Given the description of an element on the screen output the (x, y) to click on. 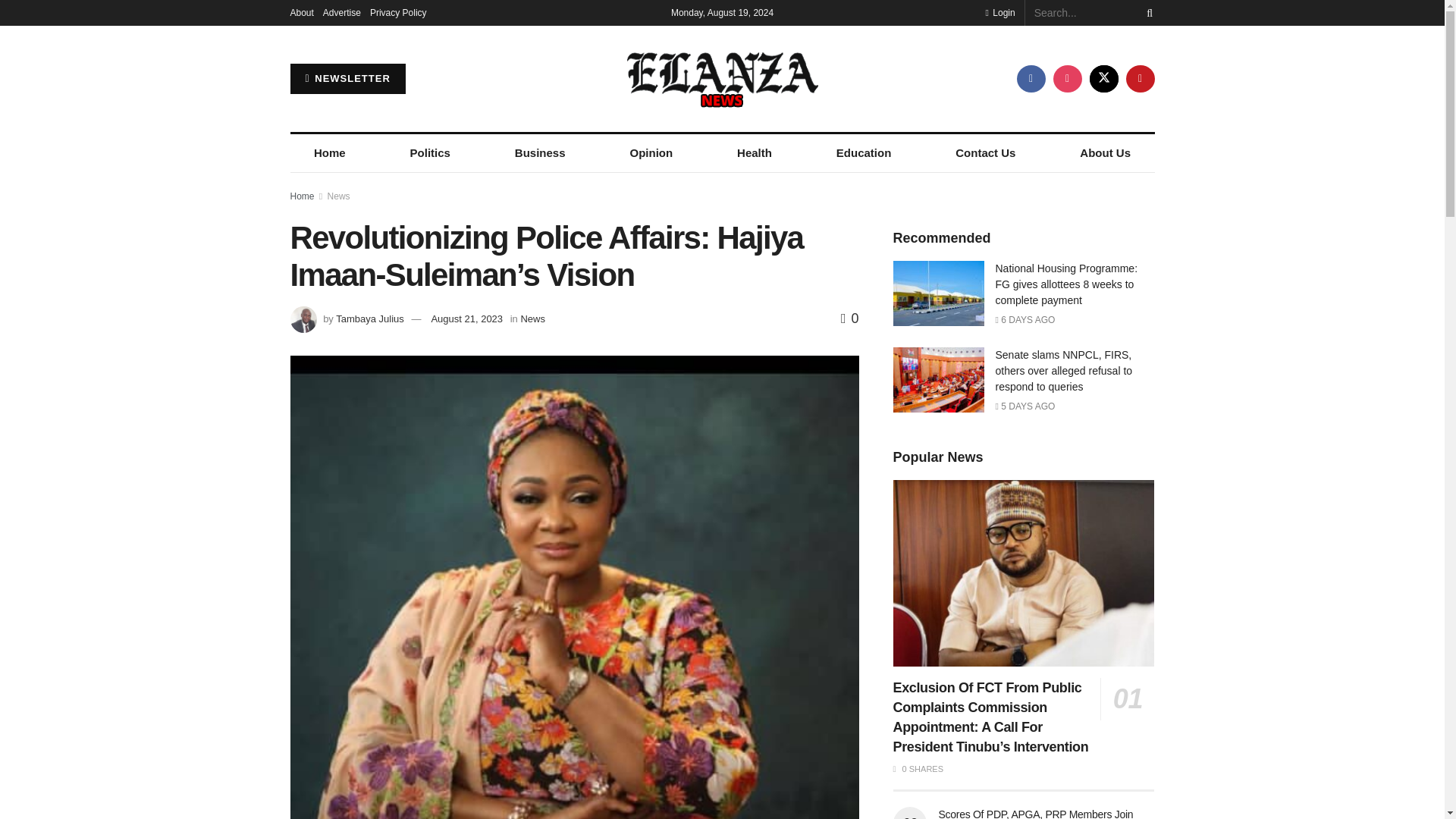
Health (754, 152)
Login (999, 12)
Contact Us (985, 152)
News (338, 195)
Opinion (651, 152)
Business (539, 152)
Home (301, 195)
Home (329, 152)
Privacy Policy (397, 12)
August 21, 2023 (466, 318)
